Given the description of an element on the screen output the (x, y) to click on. 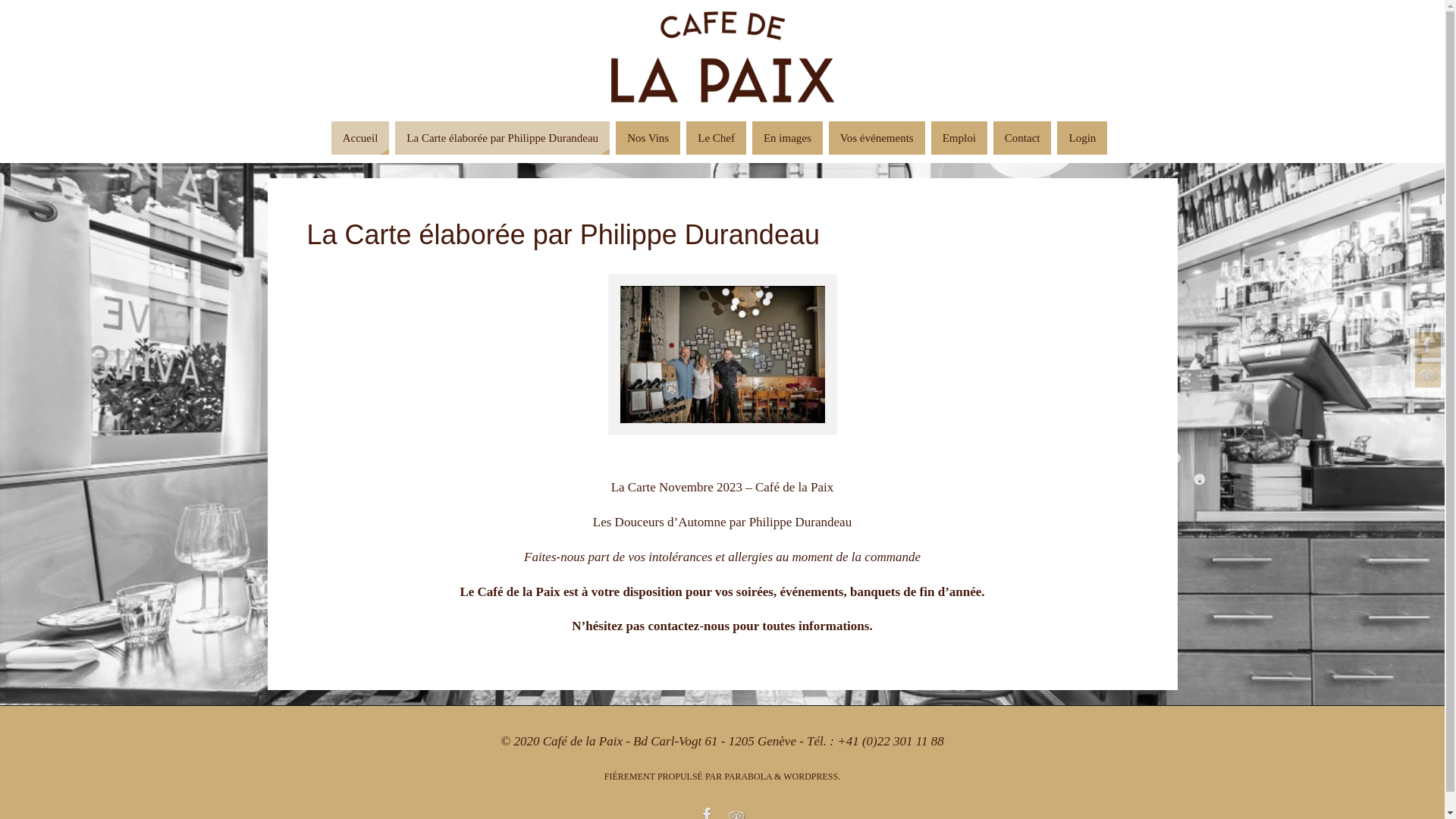
WORDPRESS. Element type: text (811, 776)
En images Element type: text (787, 137)
Contact Element type: text (1022, 137)
TripAdvisor Element type: hover (1427, 374)
Le Chef Element type: text (716, 137)
Accueil Element type: text (360, 137)
PARABOLA Element type: text (747, 776)
Facebook Element type: hover (1427, 344)
Nos Vins Element type: text (647, 137)
Login Element type: text (1082, 137)
Emploi Element type: text (959, 137)
